Given the description of an element on the screen output the (x, y) to click on. 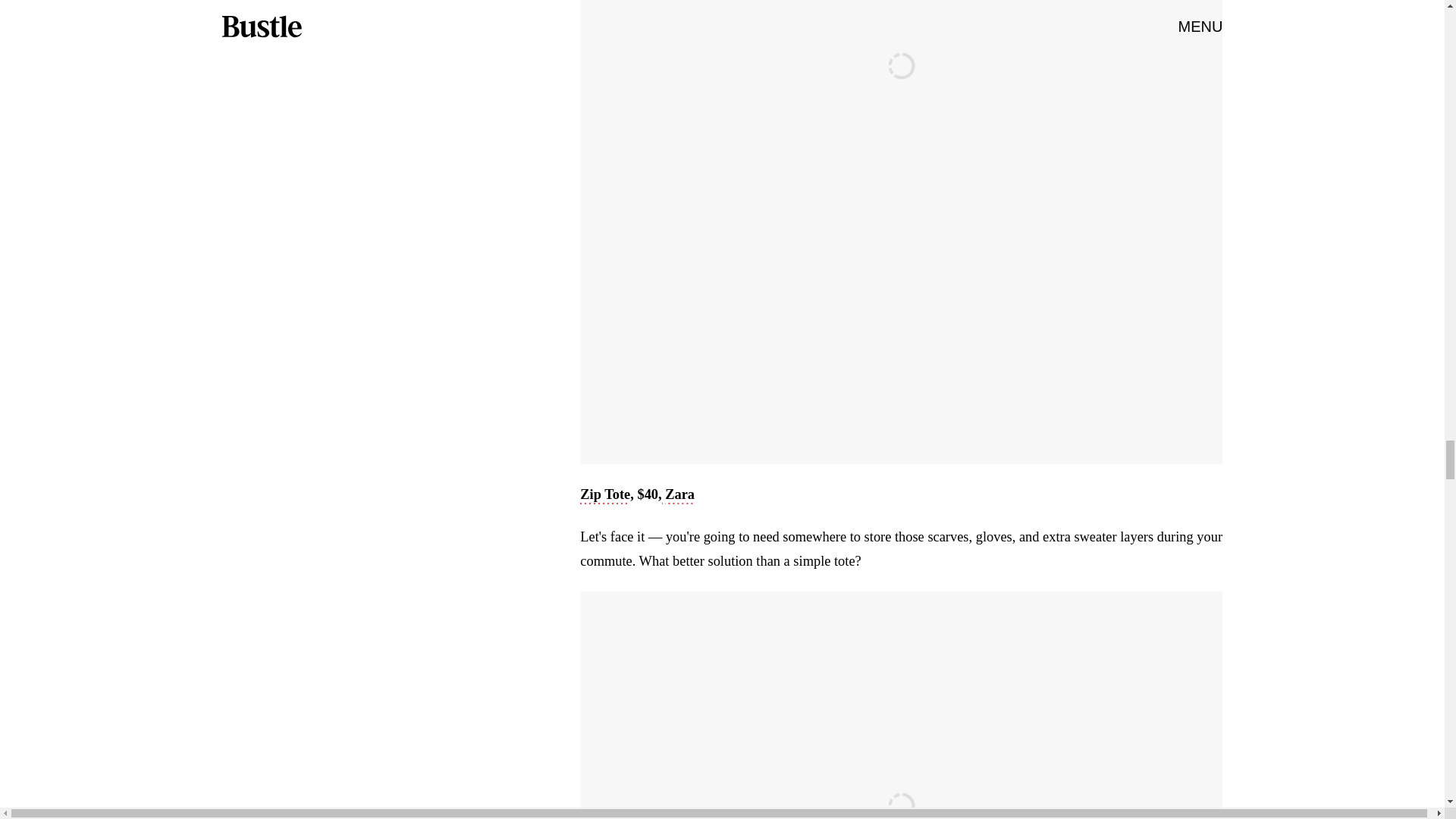
Zip Tote (604, 495)
Zara (679, 495)
